Given the description of an element on the screen output the (x, y) to click on. 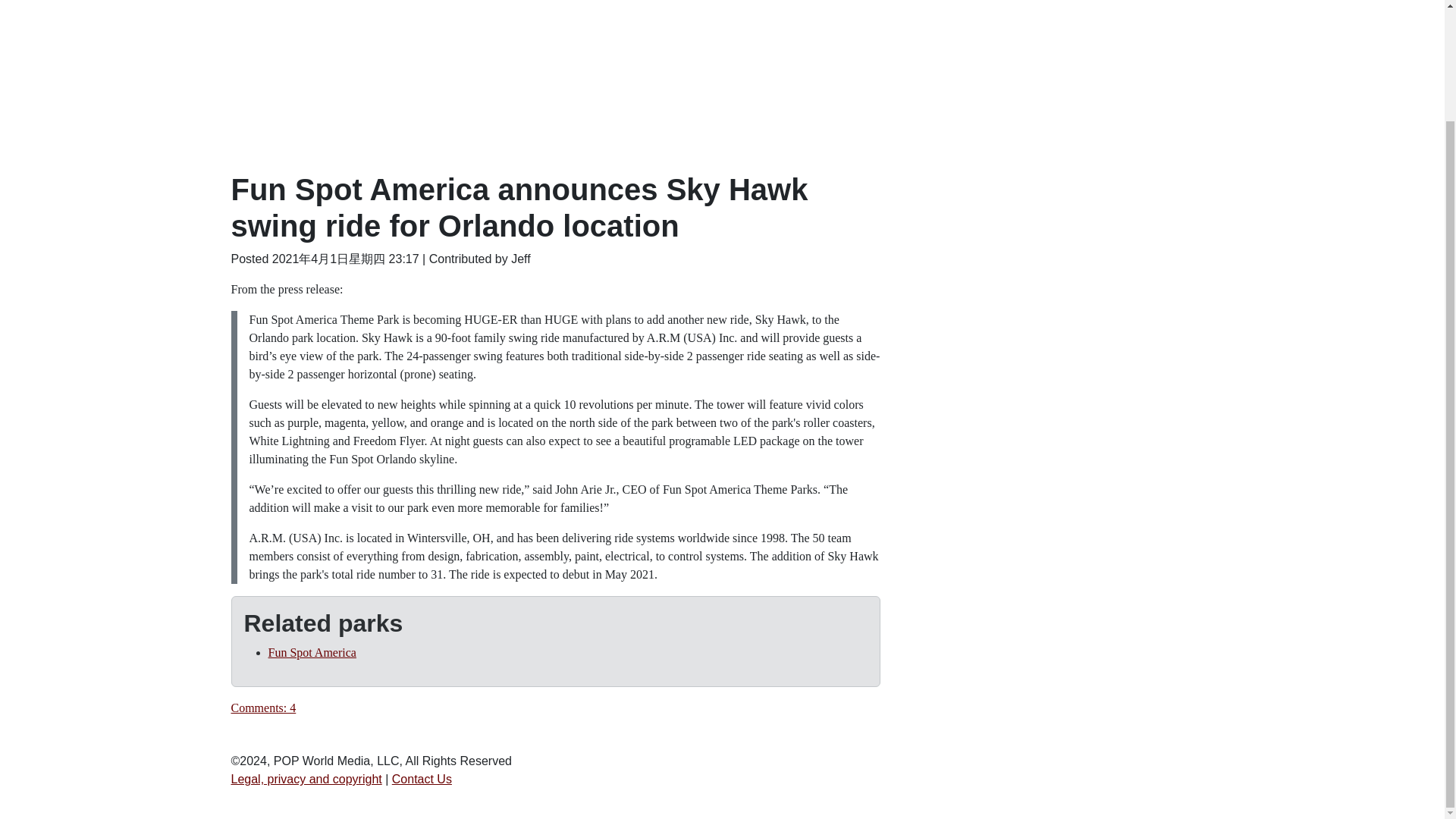
Advertisement (1055, 277)
Comments: 4 (262, 707)
Legal, privacy and copyright (305, 779)
Contact Us (421, 779)
Advertisement (1055, 501)
Fun Spot America (311, 652)
